Given the description of an element on the screen output the (x, y) to click on. 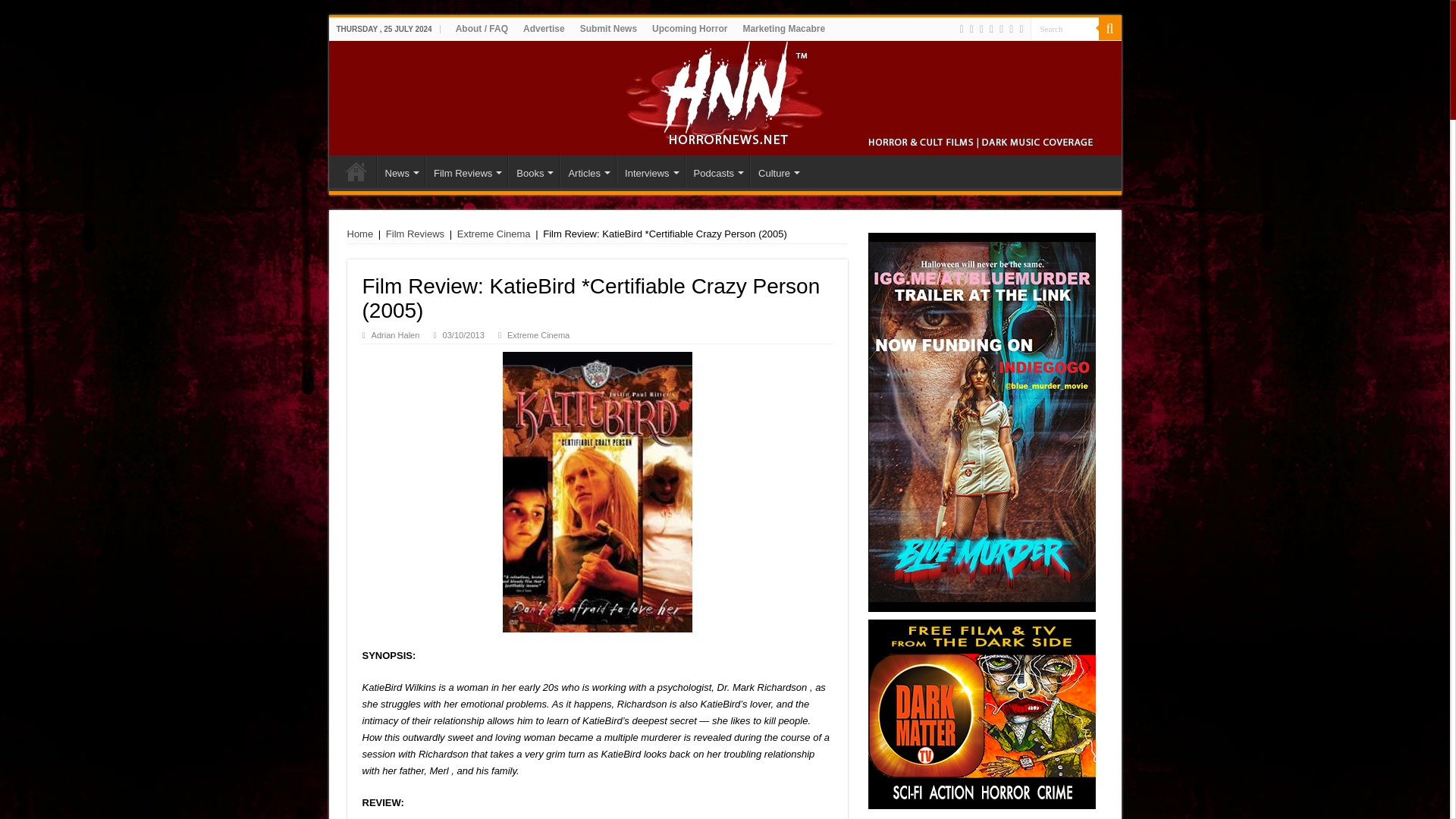
Search (1063, 28)
Search (1063, 28)
